Given the description of an element on the screen output the (x, y) to click on. 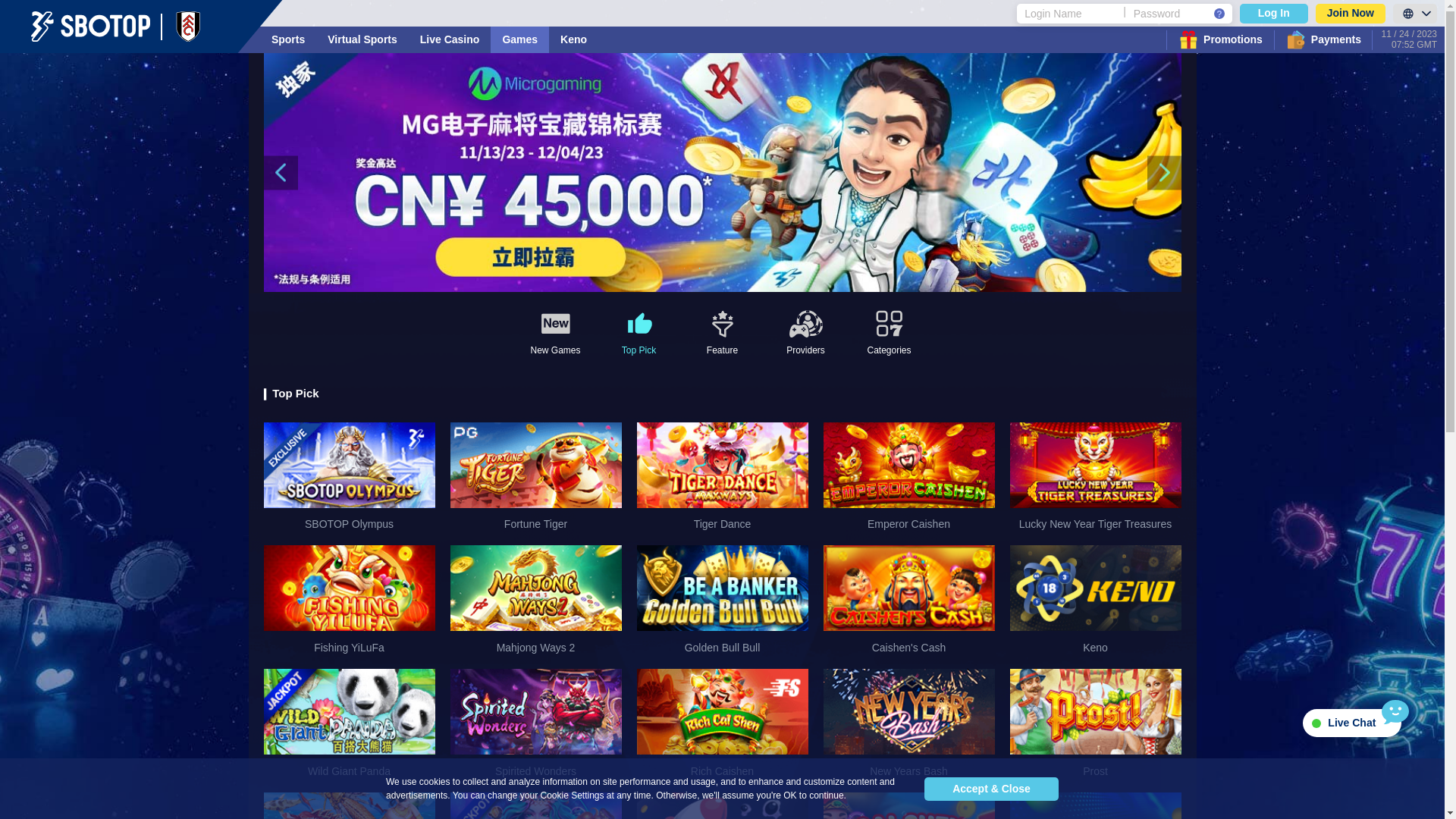
2 Element type: text (698, 268)
4 Element type: text (729, 268)
Live Chat Element type: text (1351, 723)
Promotions Element type: text (1220, 39)
Fishing YiLuFa Element type: text (349, 604)
Lucky New Year Tiger Treasures Element type: text (1095, 481)
Emperor Caishen Element type: hover (908, 465)
Caishen's Cash Element type: text (908, 604)
Virtual Sports Element type: text (362, 39)
Golden Bull Bull Element type: hover (722, 587)
Payments Element type: text (1323, 39)
Fishing YiLuFa Element type: hover (349, 587)
Wild Giant Panda Element type: text (349, 728)
Tiger Dance Element type: hover (722, 465)
Sports Element type: text (288, 39)
SBOTOP Olympus Element type: text (349, 481)
1 Element type: text (683, 268)
Fortune Tiger Element type: text (535, 481)
Golden Bull Bull Element type: text (722, 604)
6 Element type: text (759, 268)
3 Element type: text (713, 268)
Caishen's Cash Element type: hover (908, 587)
Previous Element type: text (280, 173)
Prost Element type: hover (1095, 711)
Keno Element type: hover (1095, 587)
Accept & Close Element type: text (991, 788)
Emperor Caishen Element type: text (908, 481)
5 Element type: text (744, 268)
Wild Giant Panda Element type: hover (349, 711)
New Games Element type: text (554, 333)
New Years Bash Element type: hover (908, 711)
New Years Bash Element type: text (908, 728)
Forgot account / password? Element type: hover (1219, 12)
Fortune Tiger Element type: hover (535, 465)
Mahjong Ways 2 Element type: hover (535, 587)
Join Now Element type: text (1350, 12)
Keno Element type: text (573, 39)
Spirited Wonders Element type: text (535, 728)
Keno Element type: text (1095, 604)
Live Casino Element type: text (449, 39)
Spirited Wonders Element type: hover (535, 711)
Lucky New Year Tiger Treasures Element type: hover (1095, 465)
Tiger Dance Element type: text (722, 481)
Rich Caishen Element type: hover (722, 711)
SBOTOP Olympus Element type: hover (349, 465)
Top Pick Element type: text (638, 333)
Mahjong Ways 2 Element type: text (535, 604)
Feature Element type: text (721, 333)
Games Element type: text (519, 39)
Next Element type: text (1163, 173)
Rich Caishen Element type: text (722, 728)
Log In Element type: text (1273, 12)
Prost Element type: text (1095, 728)
